Given the description of an element on the screen output the (x, y) to click on. 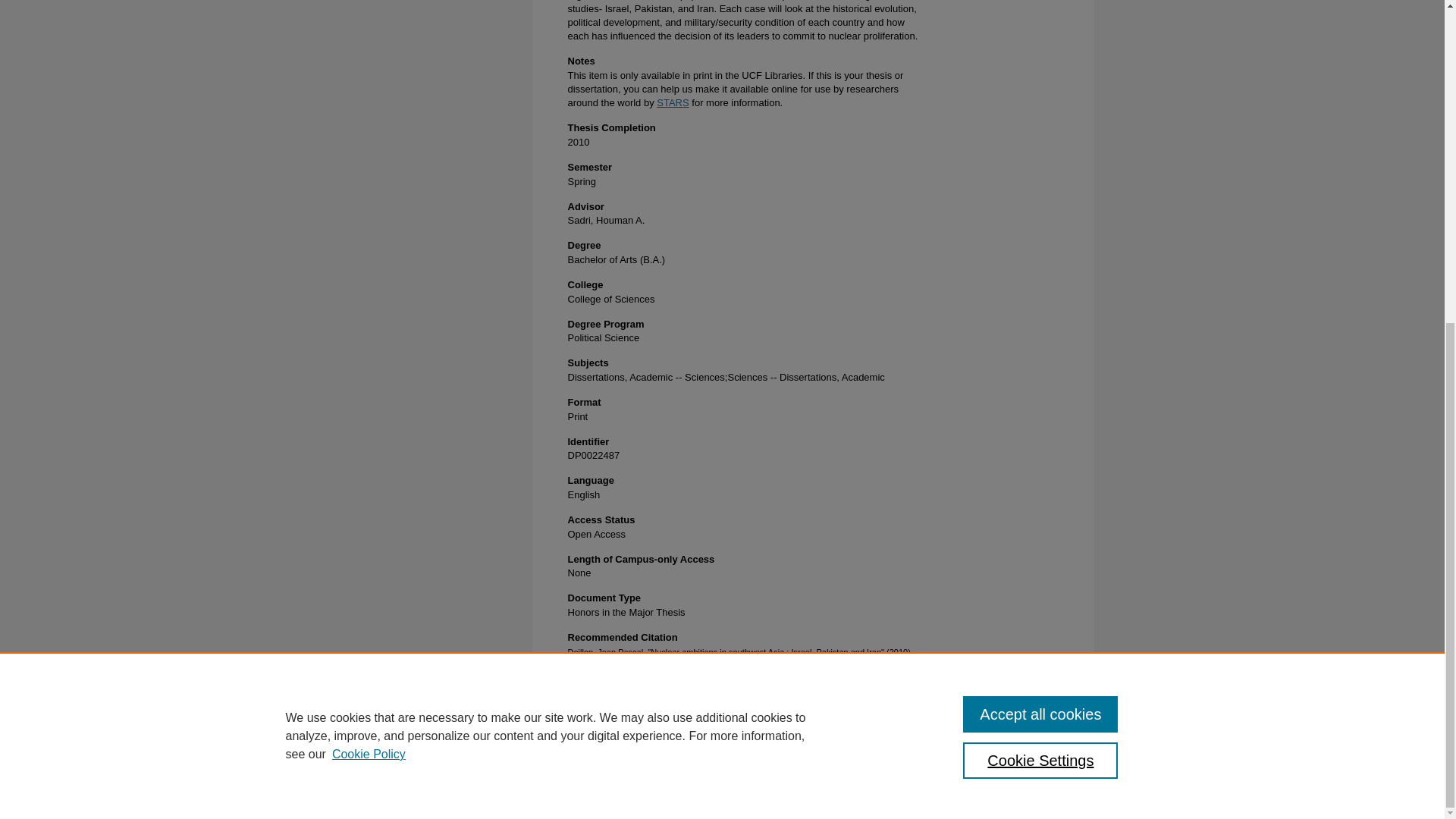
FAQ (652, 780)
STARS (672, 102)
About (611, 780)
Home (568, 780)
